Given the description of an element on the screen output the (x, y) to click on. 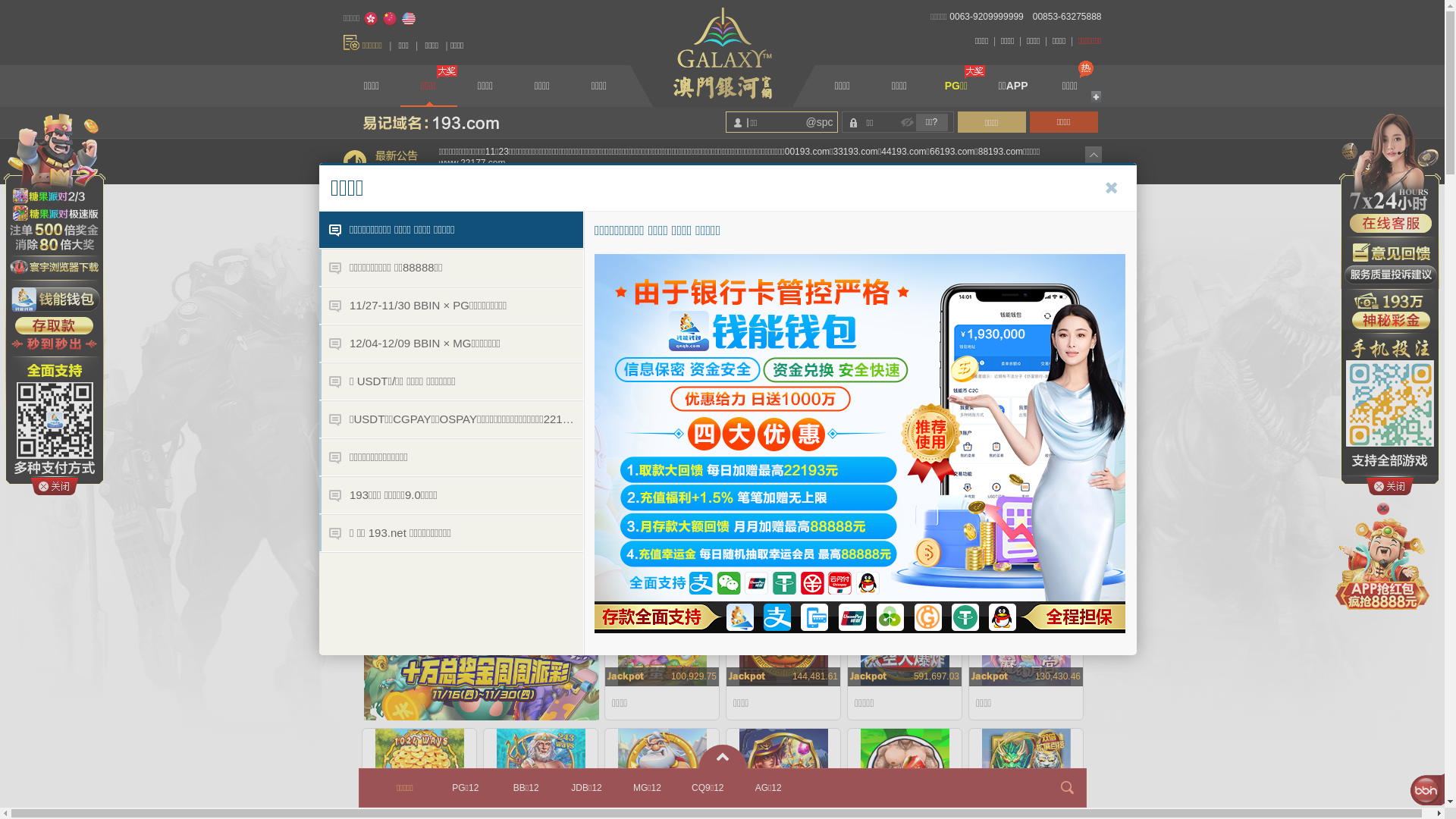
English Element type: hover (408, 18)
